Given the description of an element on the screen output the (x, y) to click on. 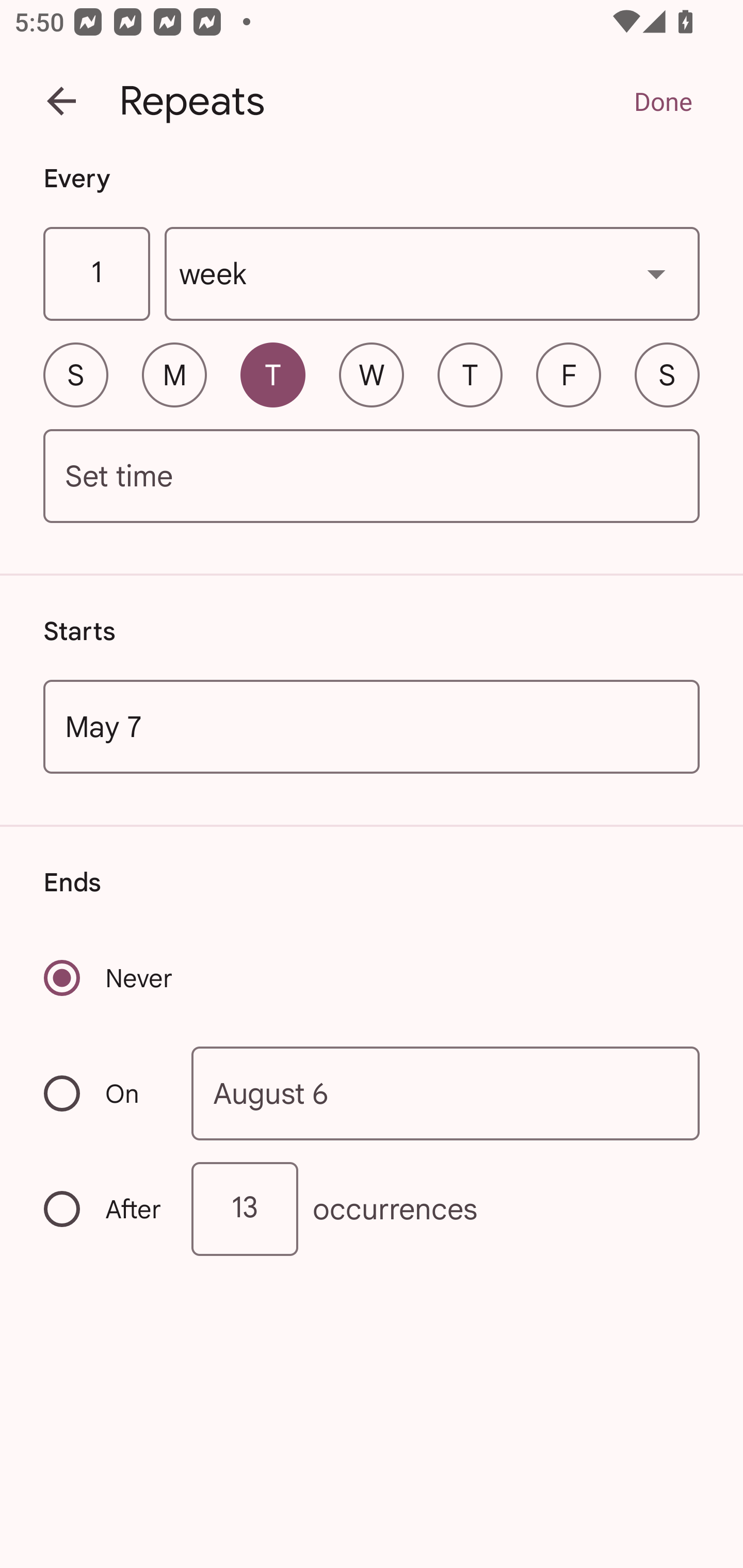
Back (61, 101)
Done (663, 101)
1 (96, 274)
week (431, 274)
Show dropdown menu (655, 273)
S Sunday (75, 374)
M Monday (173, 374)
T Tuesday, selected (272, 374)
W Wednesday (371, 374)
T Thursday (469, 374)
F Friday (568, 374)
S Saturday (666, 374)
Set time (371, 476)
May 7 (371, 726)
Never Recurrence never ends (109, 978)
August 6 (445, 1092)
On Recurrence ends on a specific date (104, 1093)
13 (244, 1208)
